Given the description of an element on the screen output the (x, y) to click on. 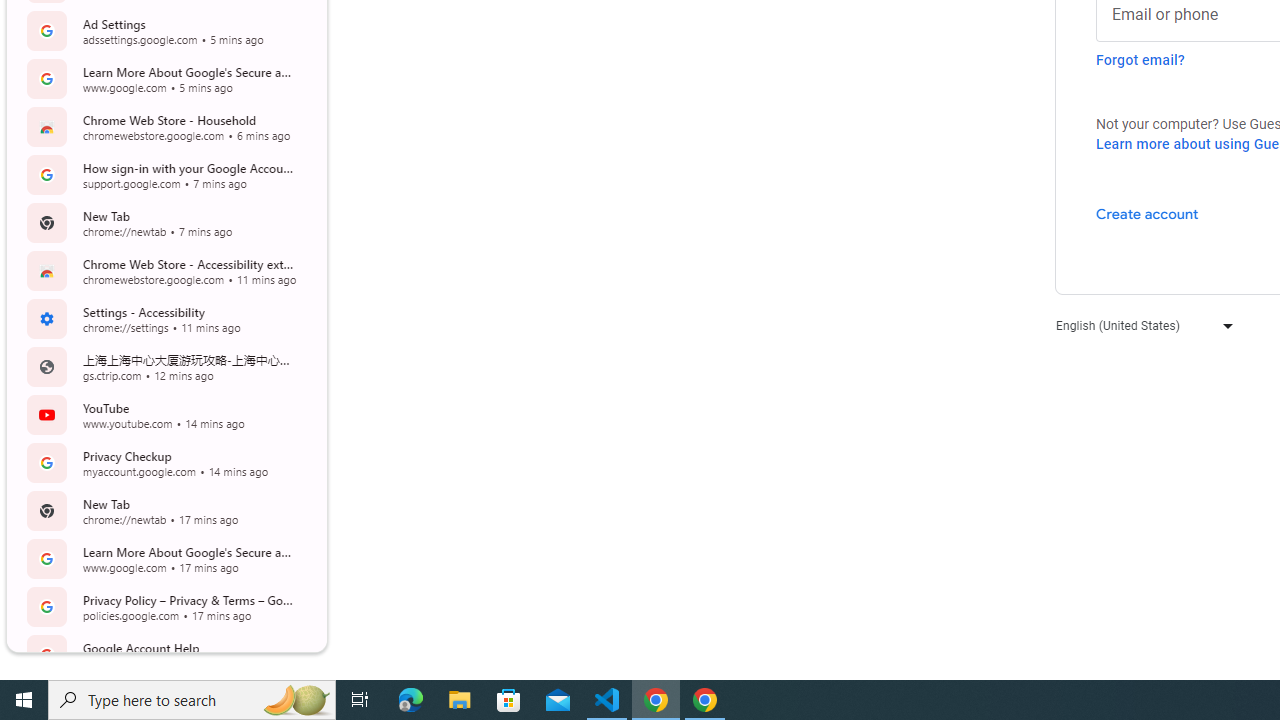
File Explorer (460, 699)
New Tab newtab 17 mins ago Open Tab (164, 510)
Search highlights icon opens search home window (295, 699)
Forgot email? (1140, 59)
Create account (1146, 213)
Google Account Help support.google.com 17 mins ago Open Tab (164, 654)
Privacy Checkup myaccount.google.com 14 mins ago Open Tab (164, 462)
Start (24, 699)
Visual Studio Code - 1 running window (607, 699)
English (United States) (1139, 324)
Microsoft Store (509, 699)
